Given the description of an element on the screen output the (x, y) to click on. 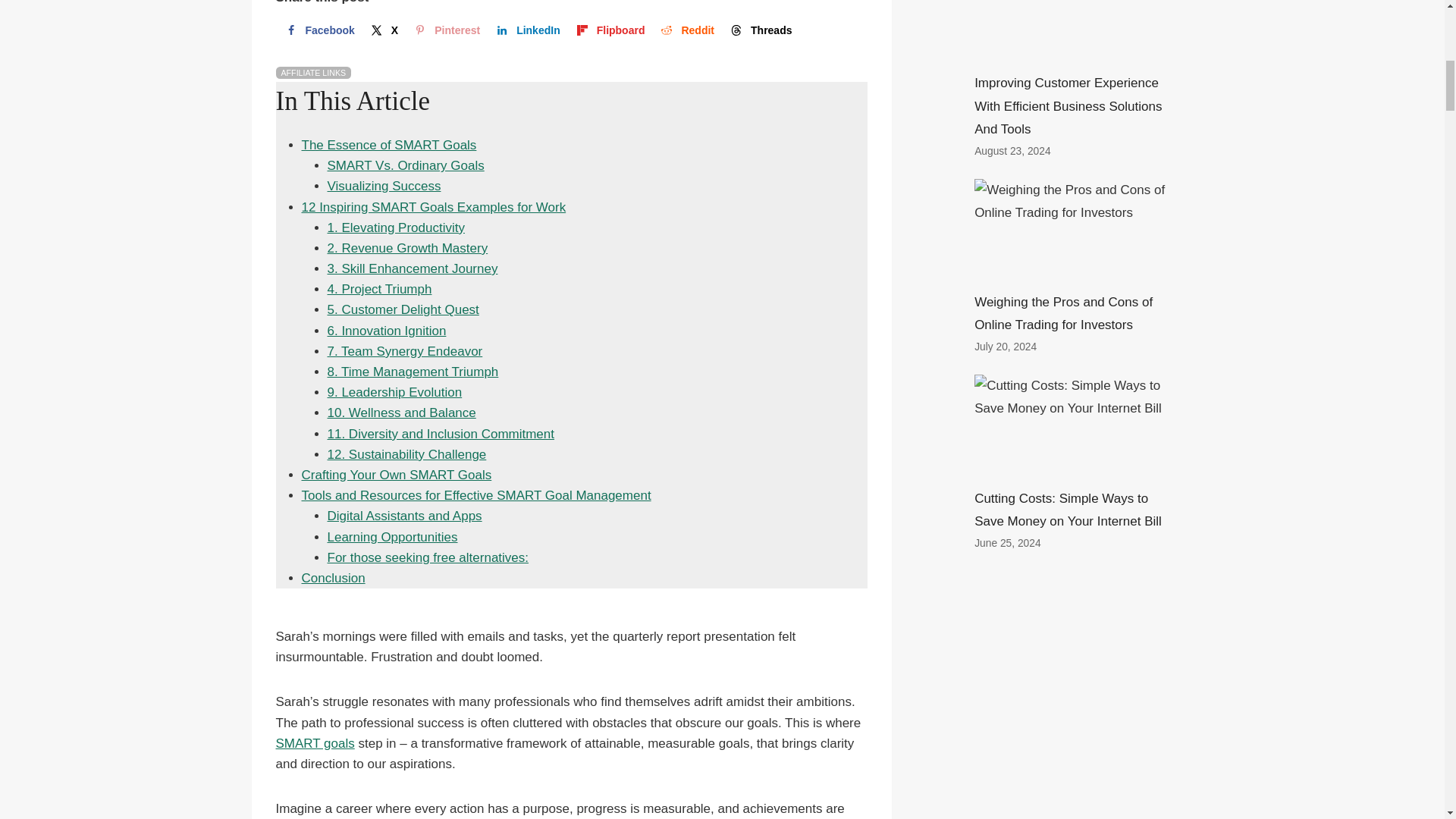
Save to Pinterest (445, 30)
Share on Reddit (685, 30)
Share on X (382, 30)
Share on Facebook (318, 30)
Share on LinkedIn (526, 30)
Share on Flipboard (609, 30)
Share on Threads (758, 30)
